Given the description of an element on the screen output the (x, y) to click on. 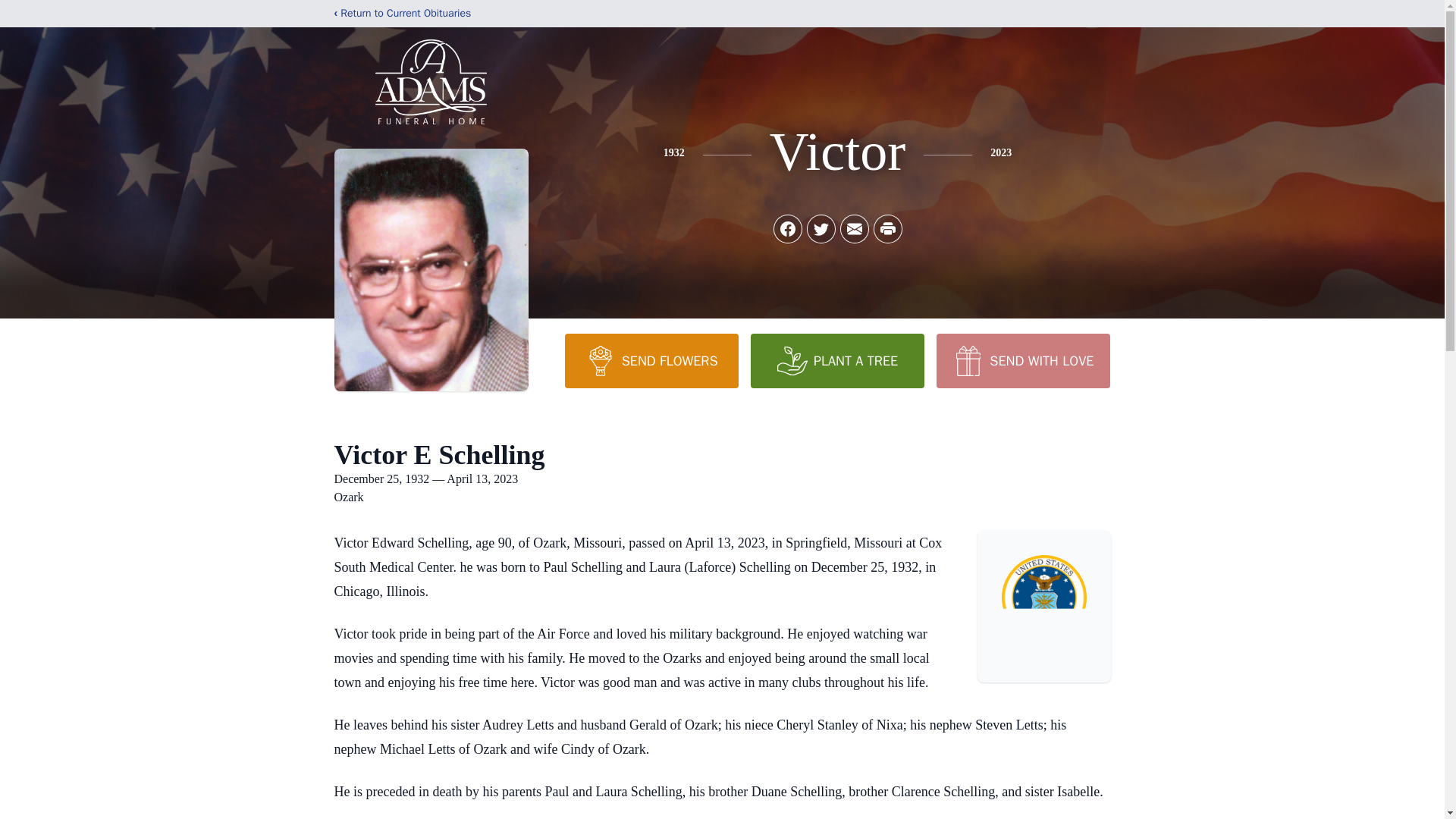
PLANT A TREE (837, 360)
SEND FLOWERS (651, 360)
SEND WITH LOVE (1022, 360)
